Given the description of an element on the screen output the (x, y) to click on. 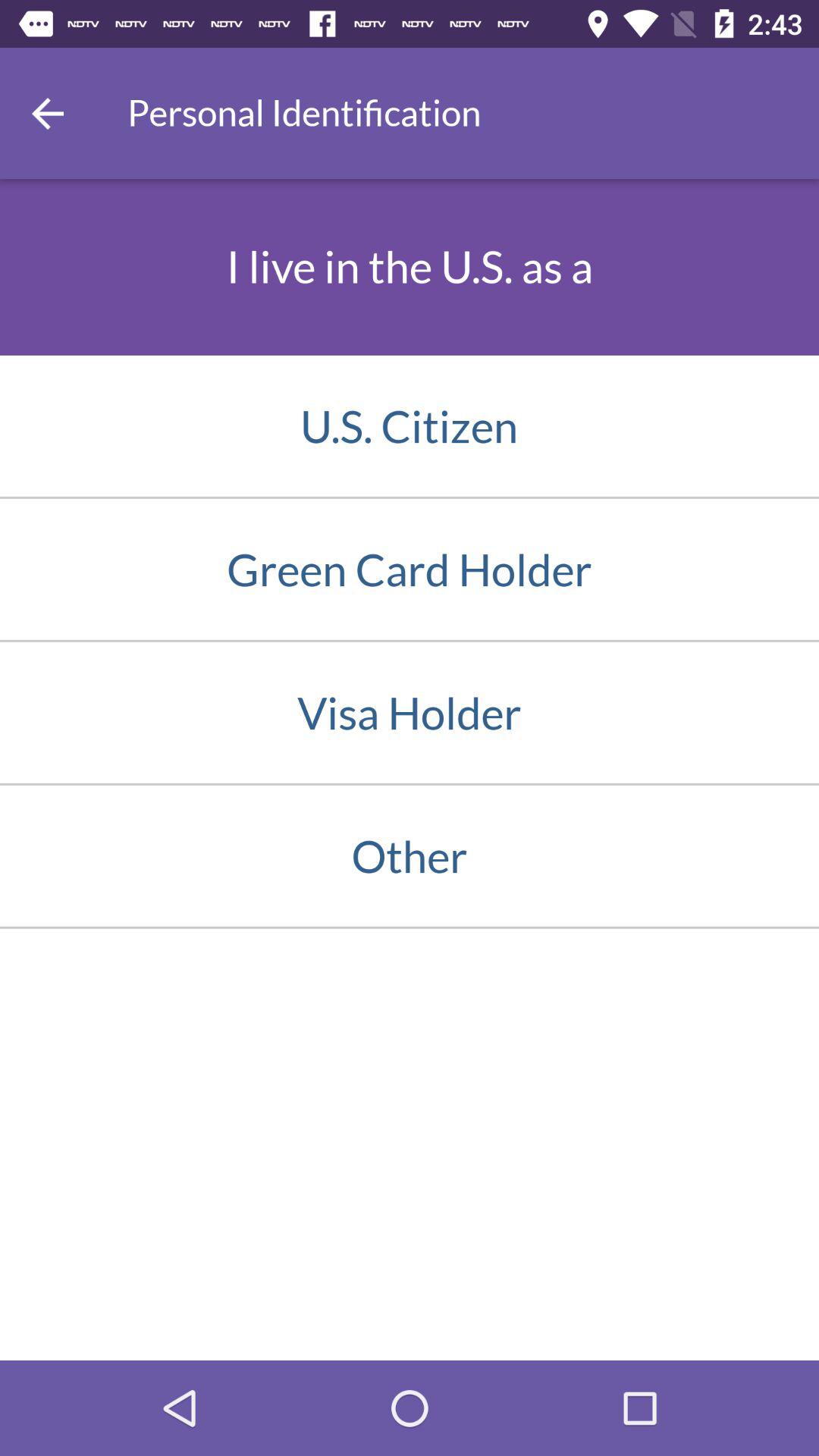
go back (47, 113)
